Given the description of an element on the screen output the (x, y) to click on. 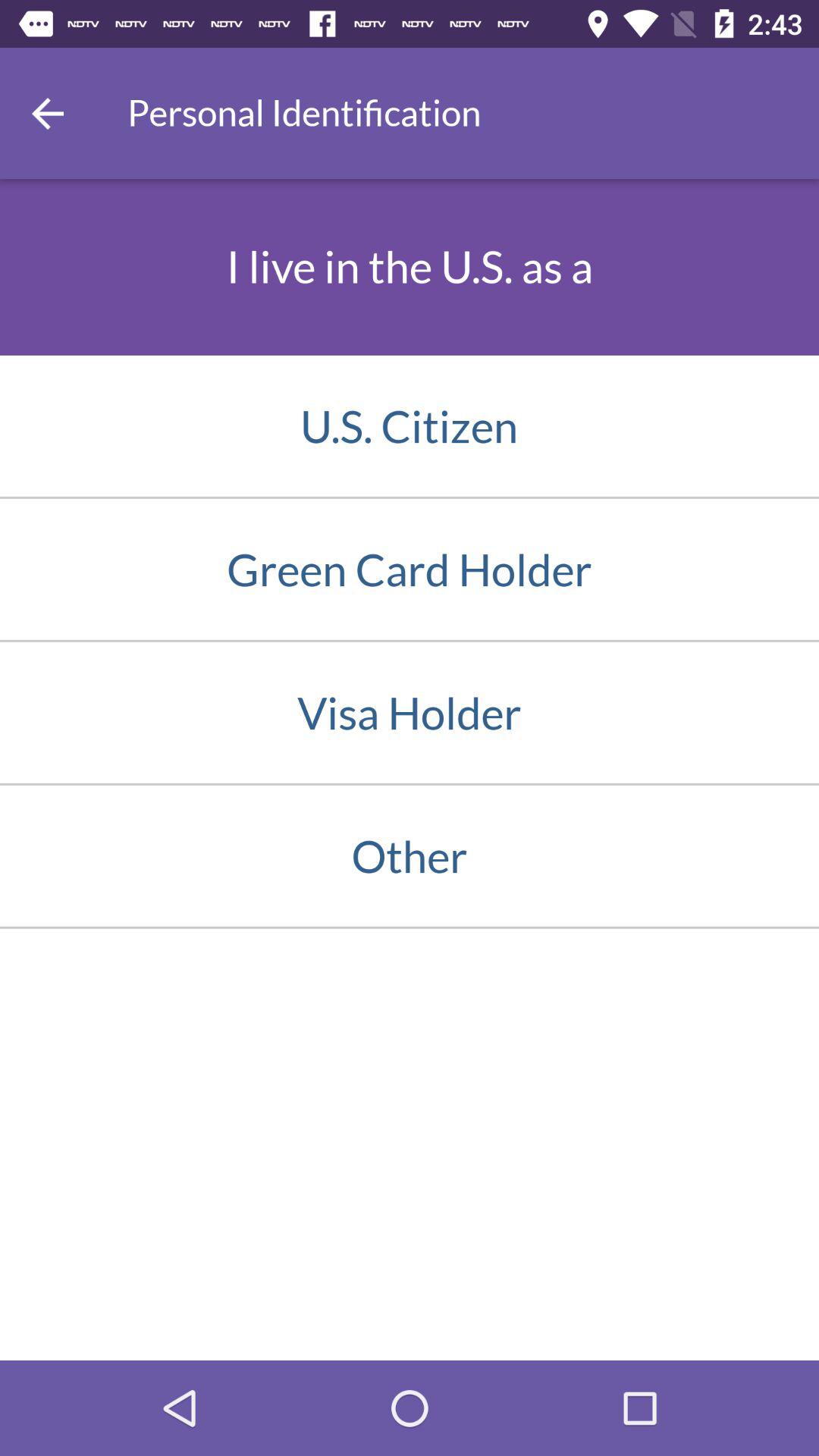
go back (47, 113)
